Given the description of an element on the screen output the (x, y) to click on. 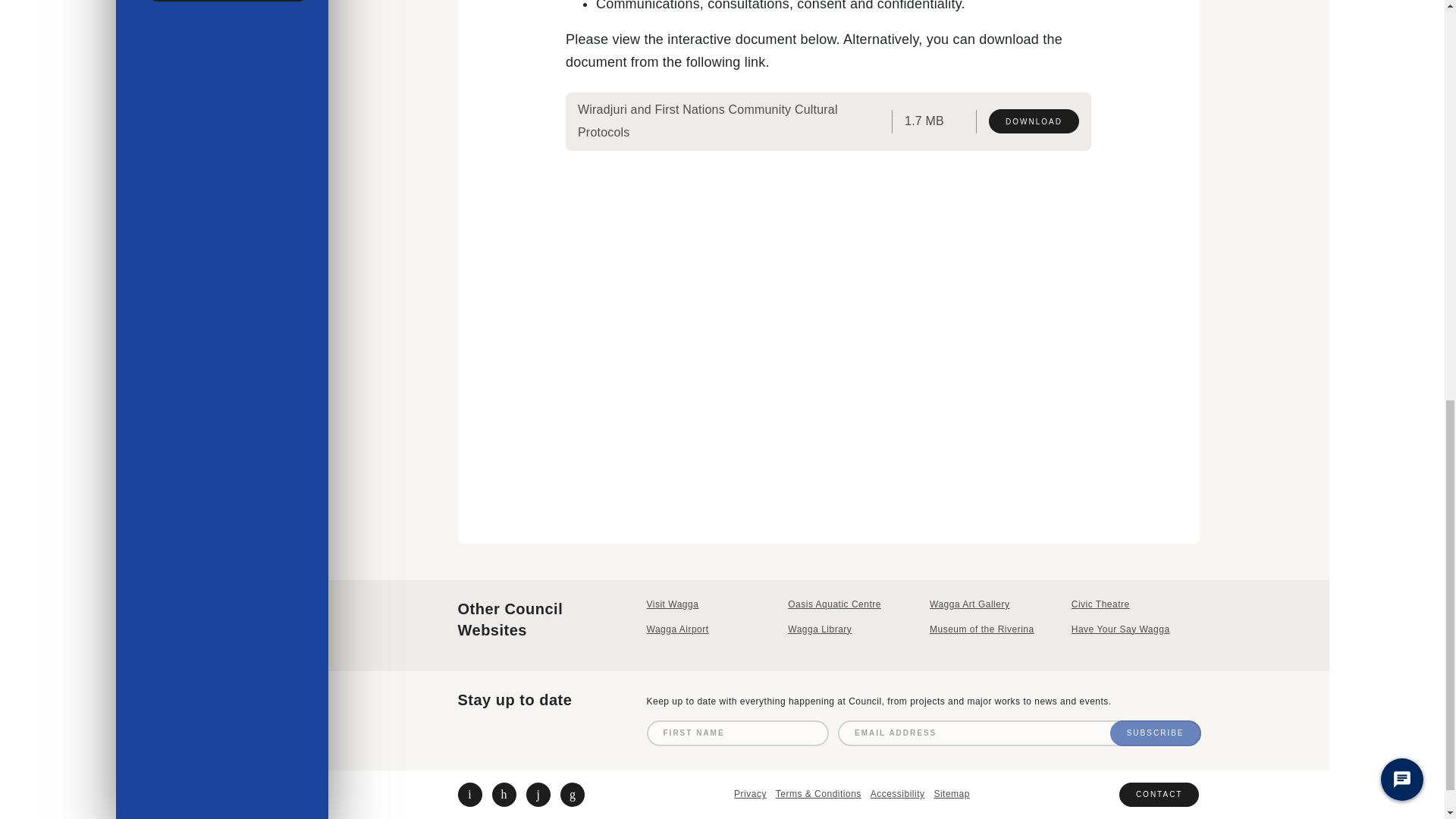
Wagga Art Gallery (994, 604)
Wagga Airport (710, 629)
Have Your Say Wagga (1135, 629)
Subscribe (1155, 733)
Oasis Aquatic Centre (851, 604)
Museum of the Riverina (994, 629)
Visit Wagga (710, 604)
Civic Theatre (1135, 604)
Wagga Library (851, 629)
Subscribe (1155, 733)
